Given the description of an element on the screen output the (x, y) to click on. 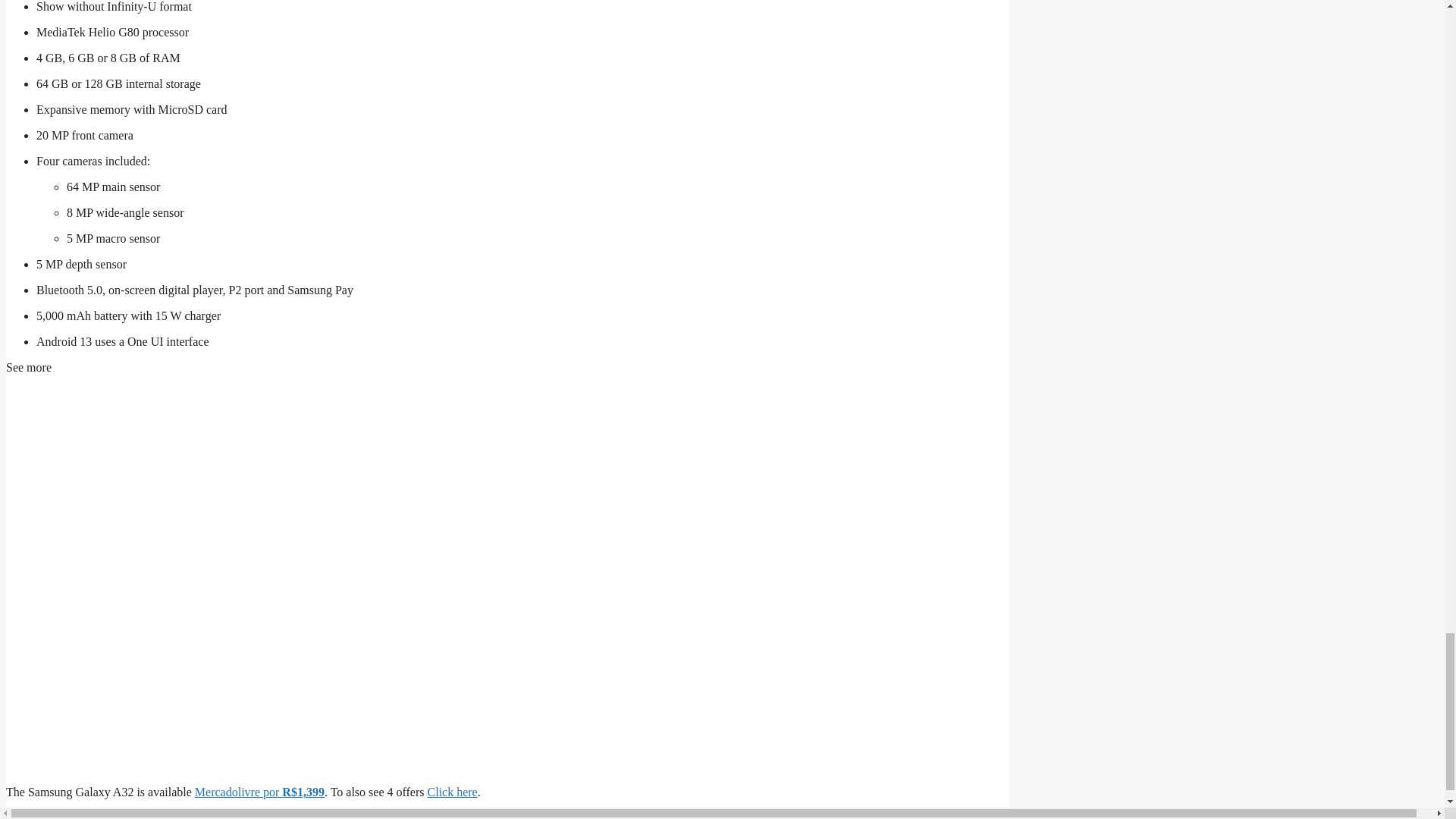
Click here (452, 791)
